Given the description of an element on the screen output the (x, y) to click on. 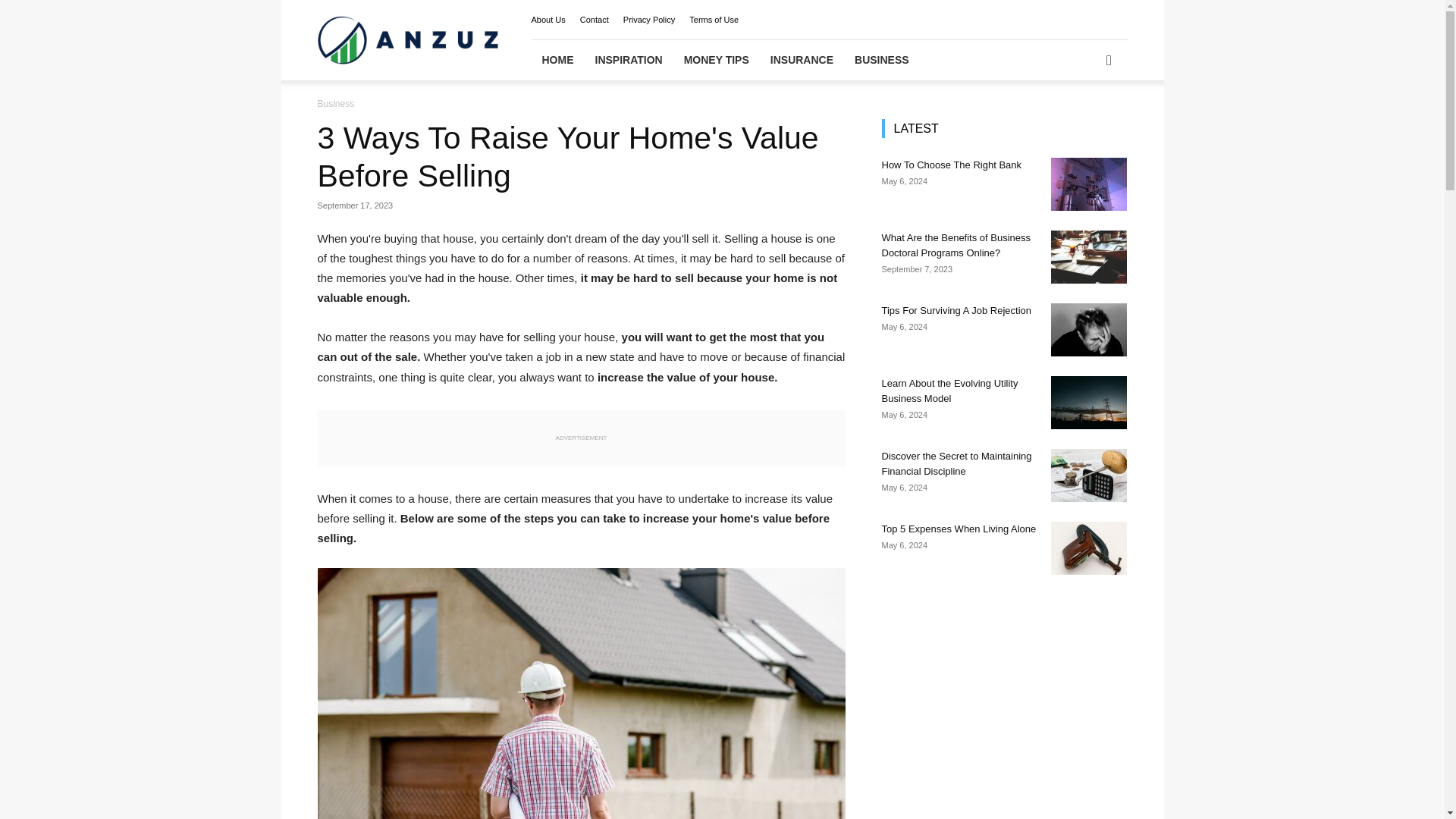
INSPIRATION (627, 60)
HOME (557, 60)
About Us (547, 19)
MONEY TIPS (716, 60)
BUSINESS (882, 60)
Privacy Policy (649, 19)
Terms of Use (713, 19)
Search (1085, 122)
INSURANCE (802, 60)
Contact (593, 19)
